Given the description of an element on the screen output the (x, y) to click on. 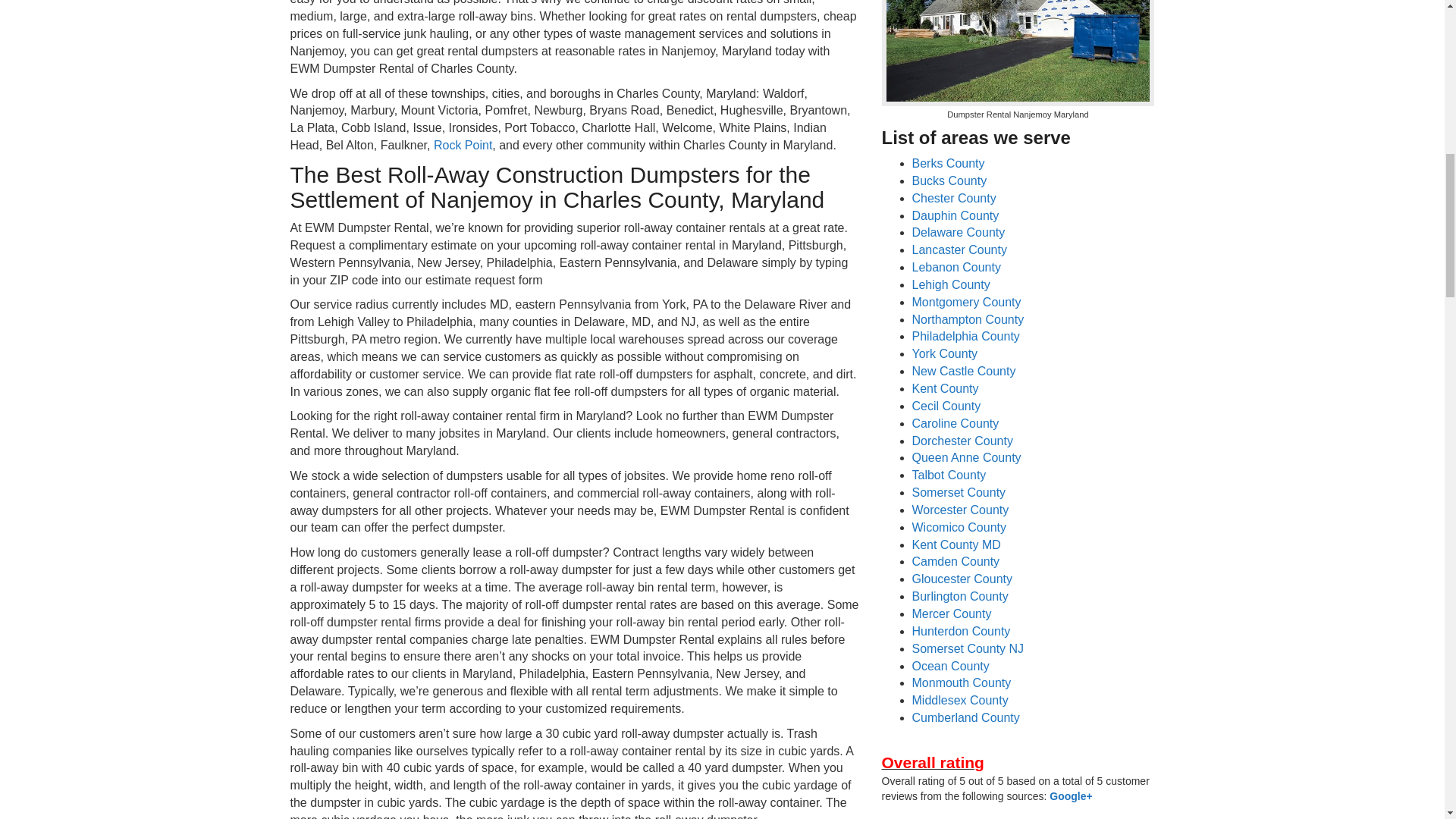
Berks County (947, 163)
Rock Point (462, 144)
Chester County (953, 197)
Bucks County (949, 180)
